Given the description of an element on the screen output the (x, y) to click on. 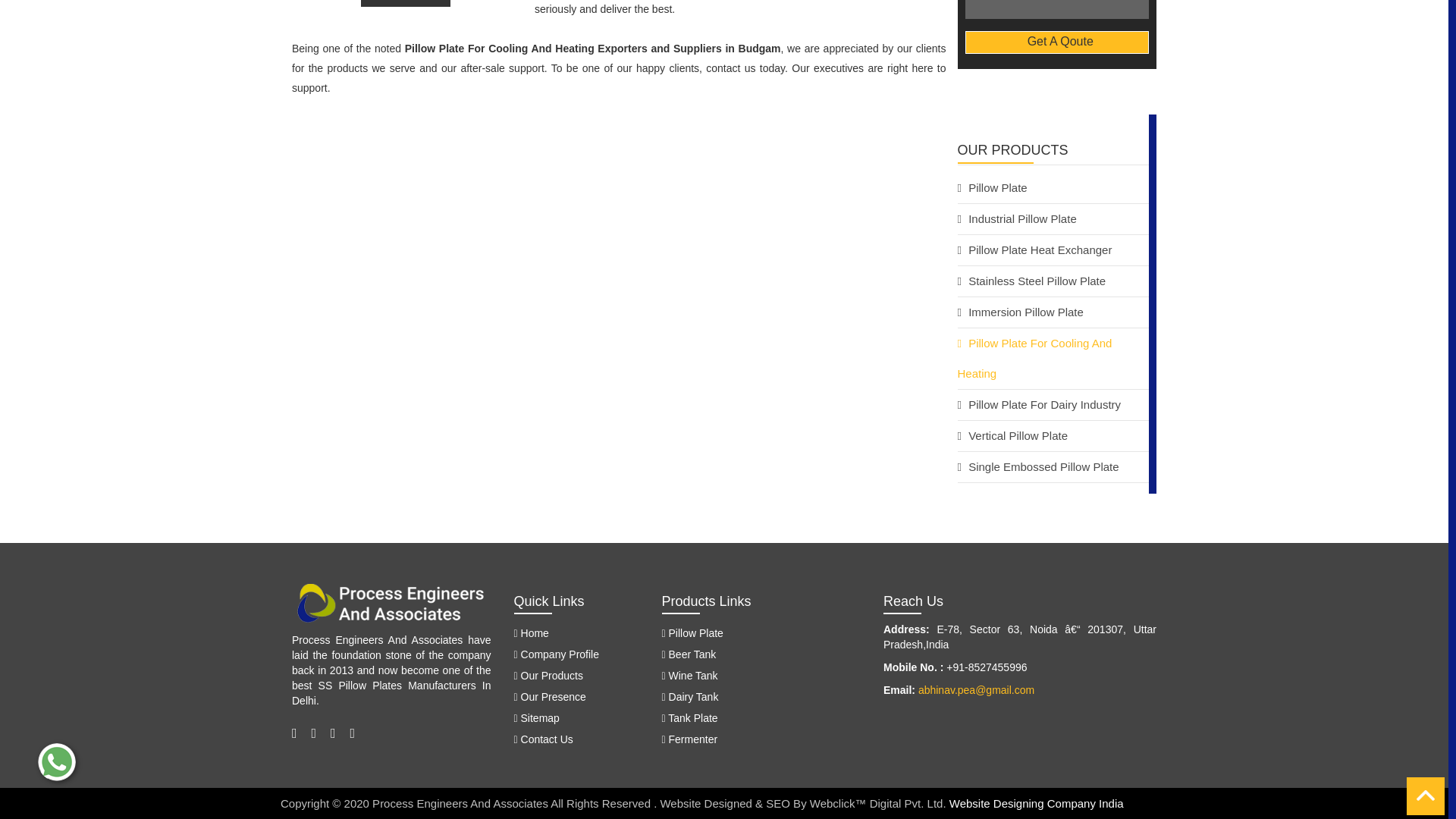
Get A Qoute (1055, 42)
